Given the description of an element on the screen output the (x, y) to click on. 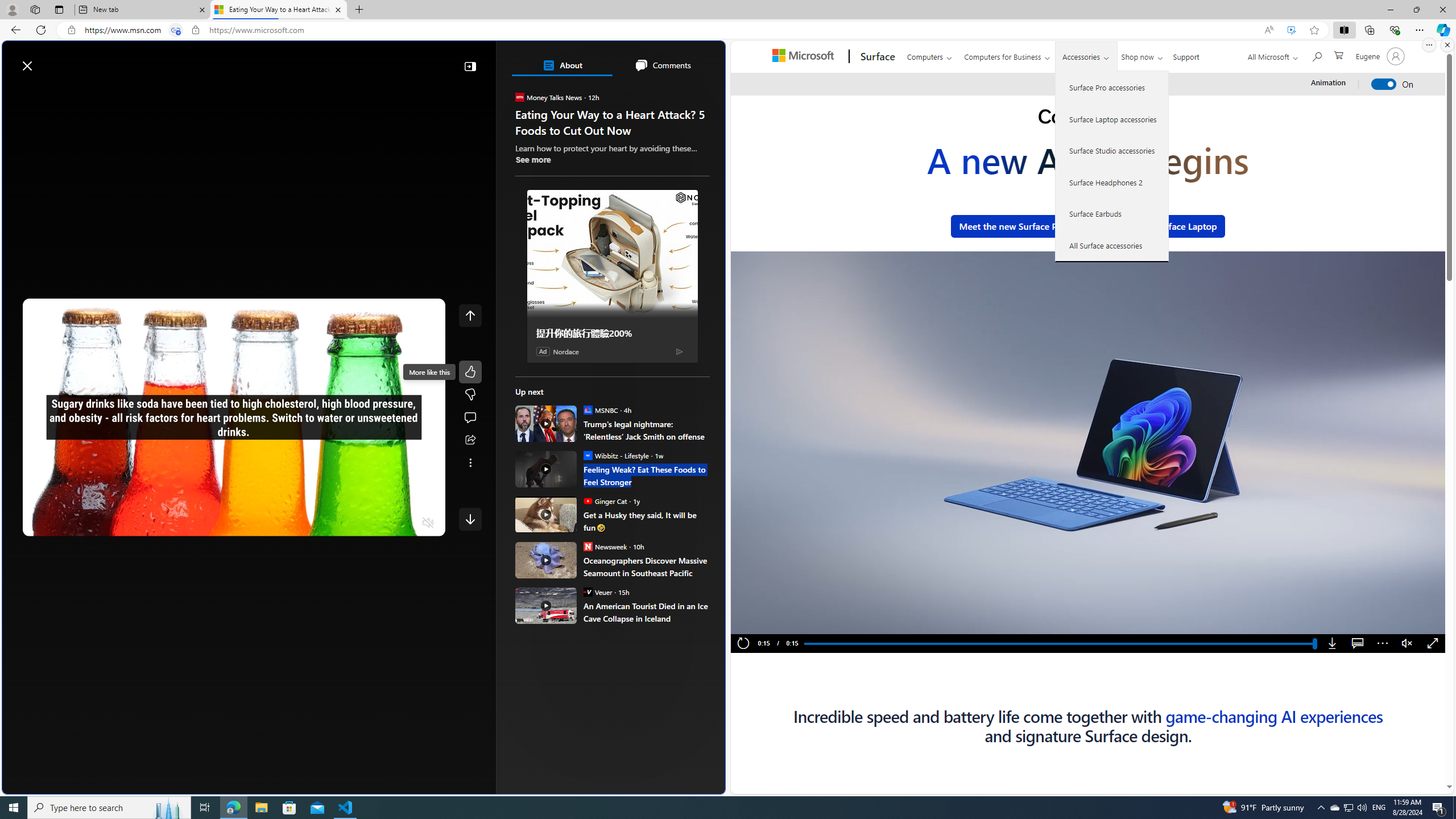
Surface Earbuds (1112, 214)
Class: button-glyph (16, 92)
Meet the new Surface Pro (1012, 225)
Money Talks News (519, 96)
Feeling Weak? Eat These Foods to Feel Stronger (545, 468)
Personalize (679, 92)
Surface Studio accessories (1112, 150)
Feeling Weak? Eat These Foods to Feel Stronger (646, 475)
Personalized for You (616, 219)
Support (1185, 54)
Wibbitz - Lifestyle (587, 455)
